Given the description of an element on the screen output the (x, y) to click on. 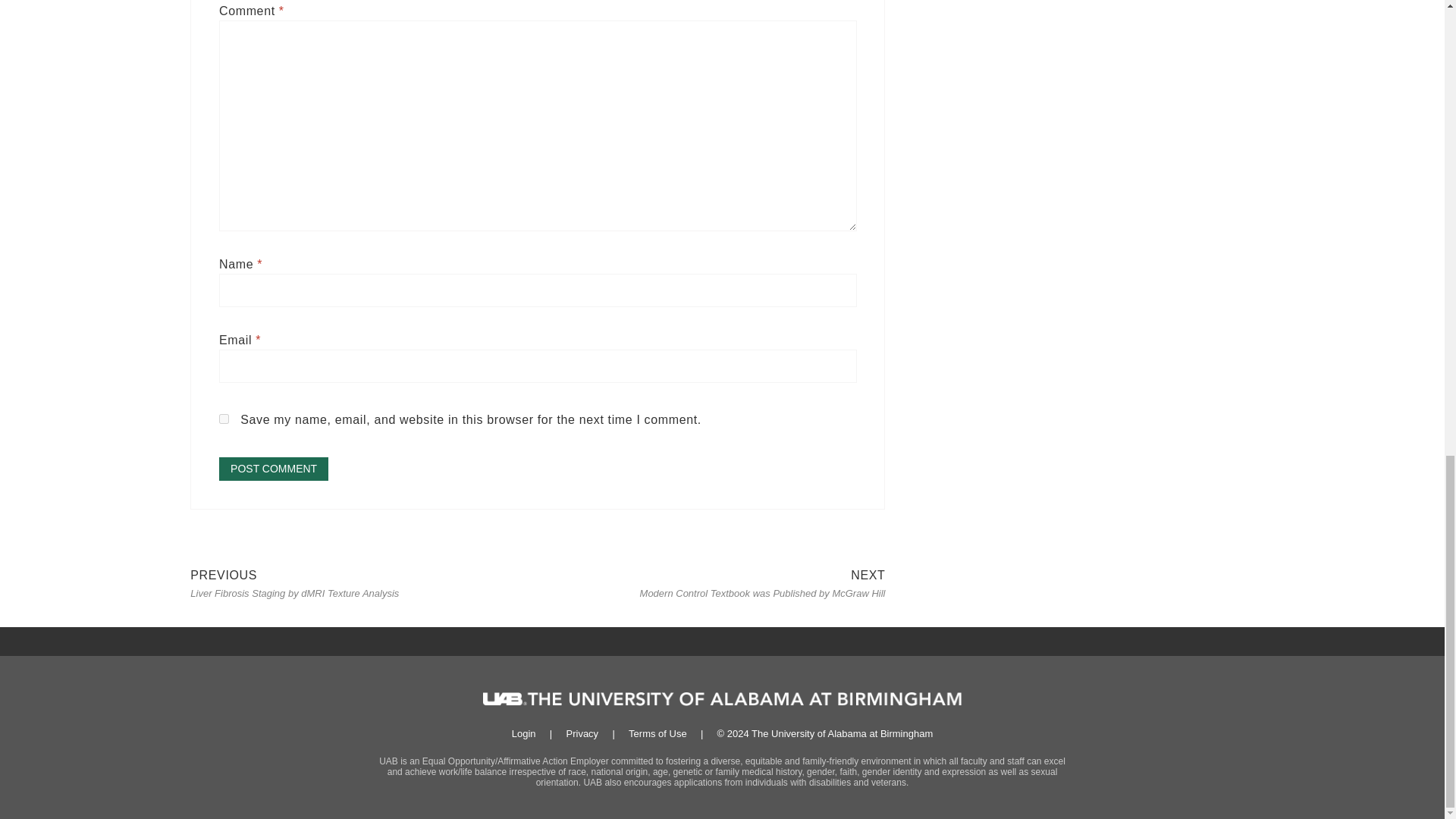
Post Comment (274, 468)
Post Comment (274, 468)
Login (523, 734)
Privacy (582, 734)
Terms of Use (657, 734)
yes (223, 419)
